Given the description of an element on the screen output the (x, y) to click on. 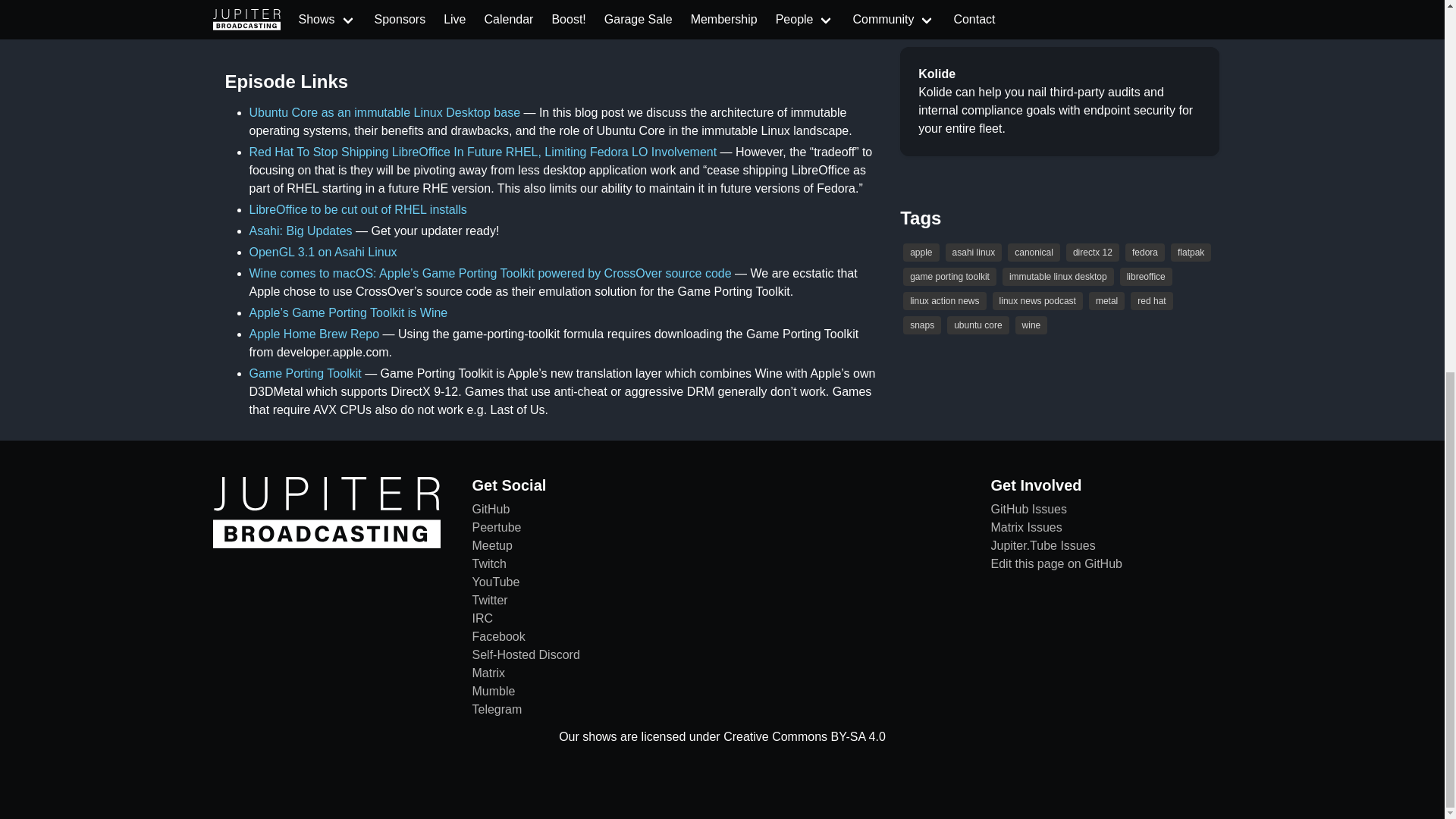
Asahi: Big Updates (300, 230)
Apple Home Brew Repo (313, 333)
LibreOffice to be cut out of RHEL installs (356, 209)
OpenGL 3.1 on Asahi Linux (322, 251)
Game Porting Toolkit (304, 373)
Ubuntu Core as an immutable Linux Desktop base (383, 112)
